Given the description of an element on the screen output the (x, y) to click on. 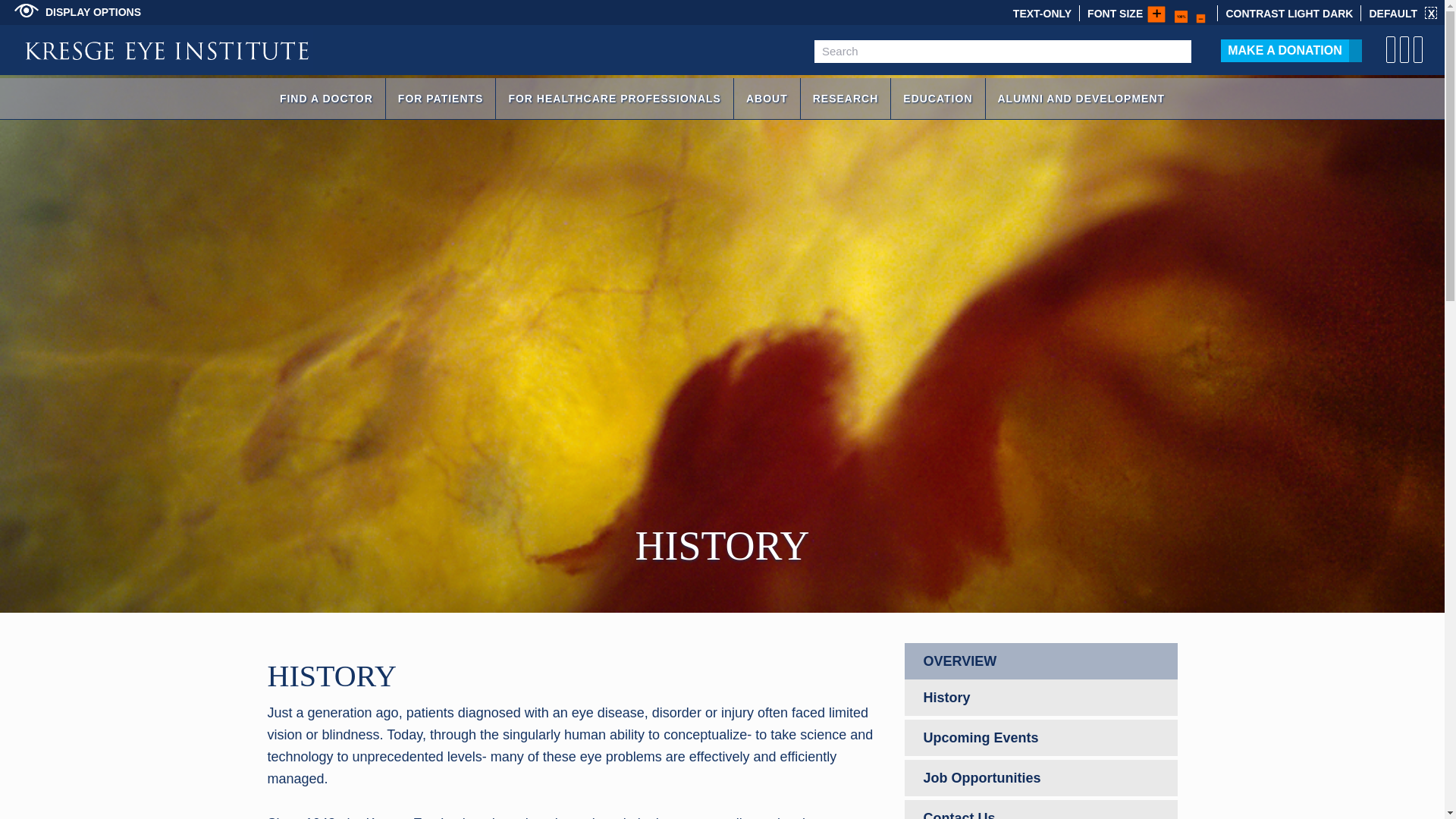
FOR HEALTHCARE PROFESSIONALS (614, 97)
RESEARCH (845, 97)
ABOUT (766, 97)
Make A Donation (1285, 50)
FIND A DOCTOR (326, 97)
FOR PATIENTS (440, 97)
EDUCATION (937, 97)
Make A Donation (1285, 50)
